Given the description of an element on the screen output the (x, y) to click on. 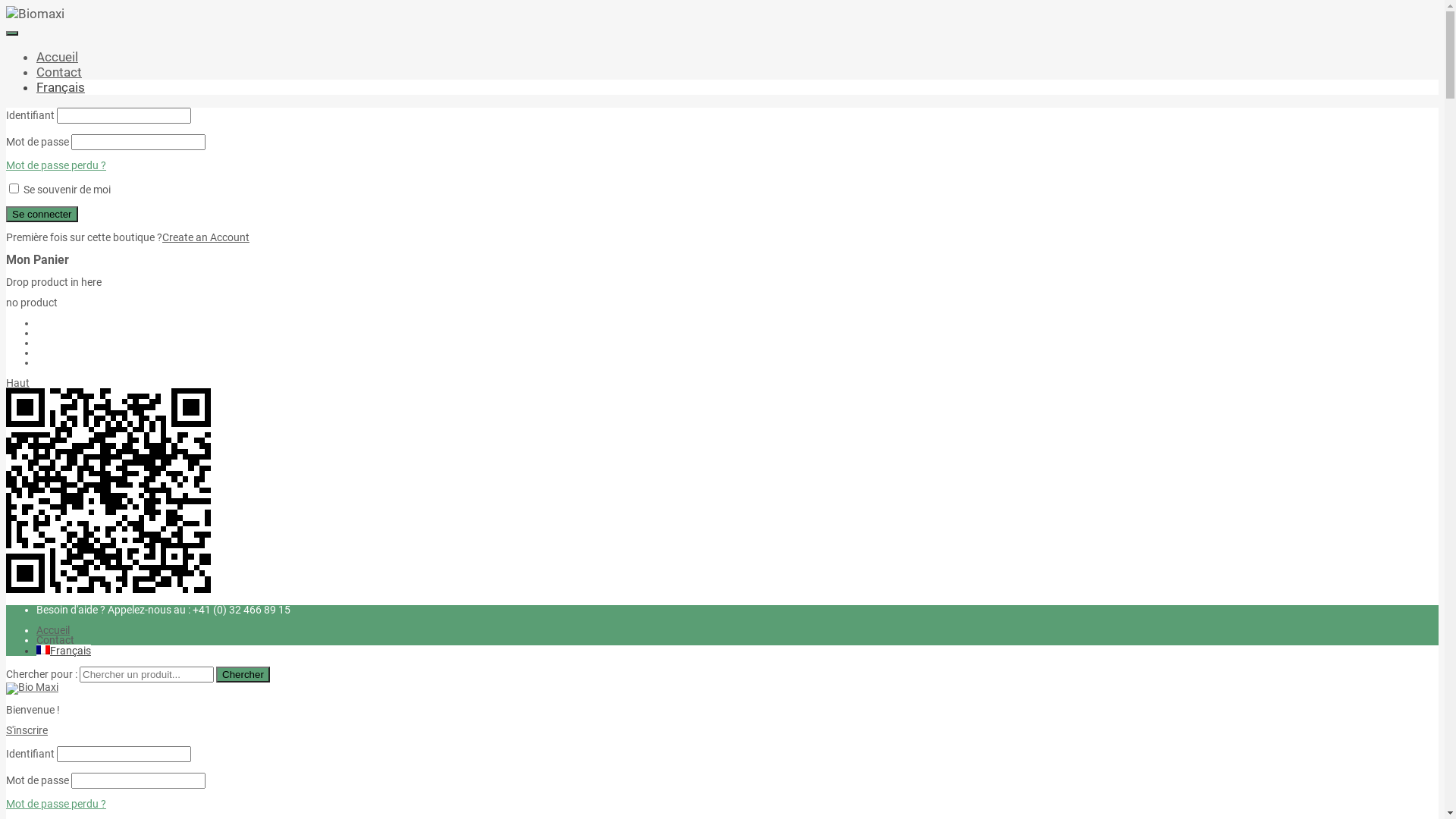
Chercher Element type: text (242, 674)
Haut Element type: text (17, 382)
Mot de passe perdu ? Element type: text (56, 165)
Contact Element type: text (58, 71)
Contact Element type: text (55, 639)
Create an Account Element type: text (205, 237)
S'inscrire Element type: text (26, 730)
Accueil Element type: text (57, 56)
Mot de passe perdu ? Element type: text (56, 803)
Accueil Element type: text (52, 630)
Se connecter Element type: text (42, 214)
